Given the description of an element on the screen output the (x, y) to click on. 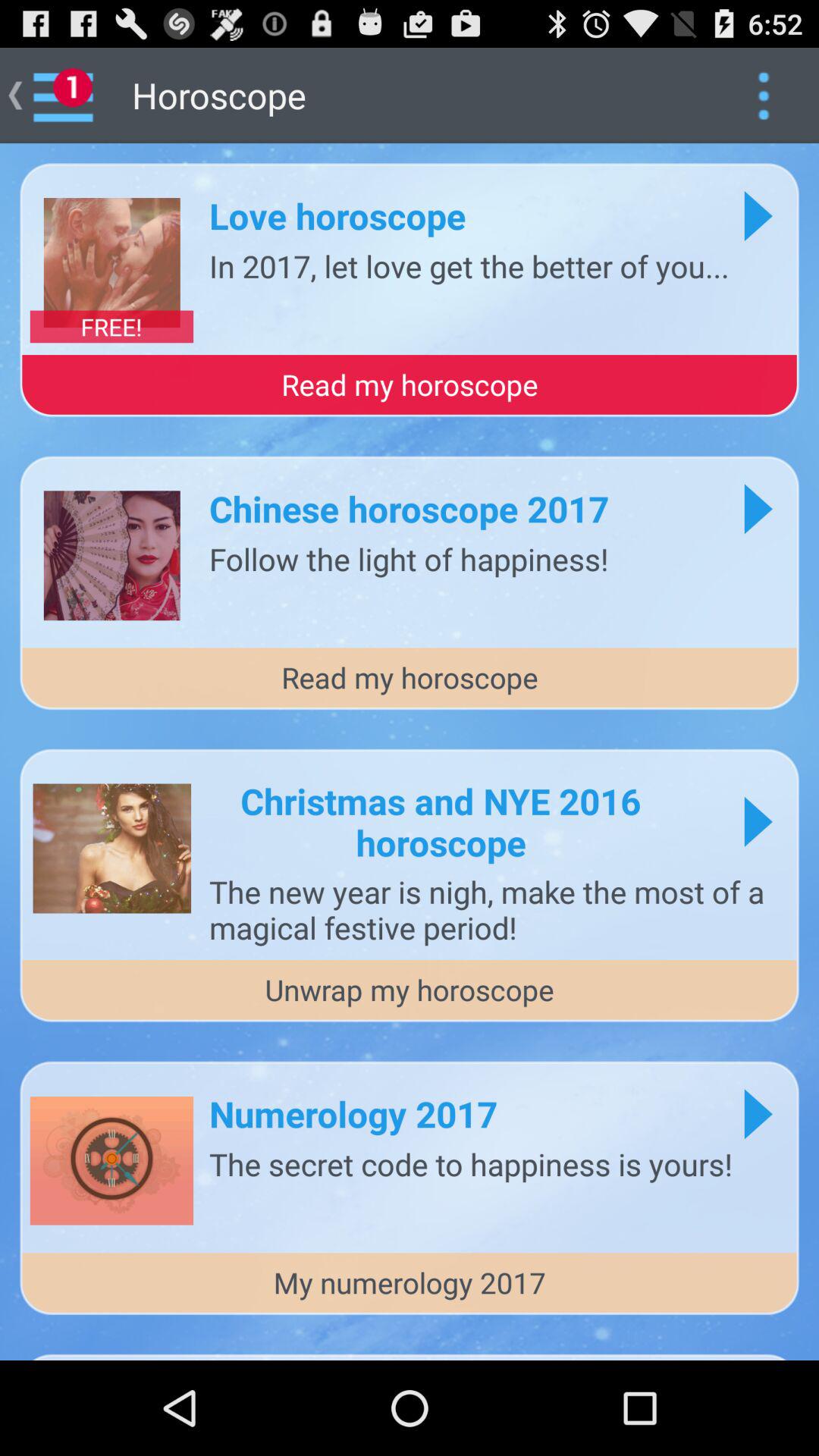
tap the the new year app (495, 909)
